Given the description of an element on the screen output the (x, y) to click on. 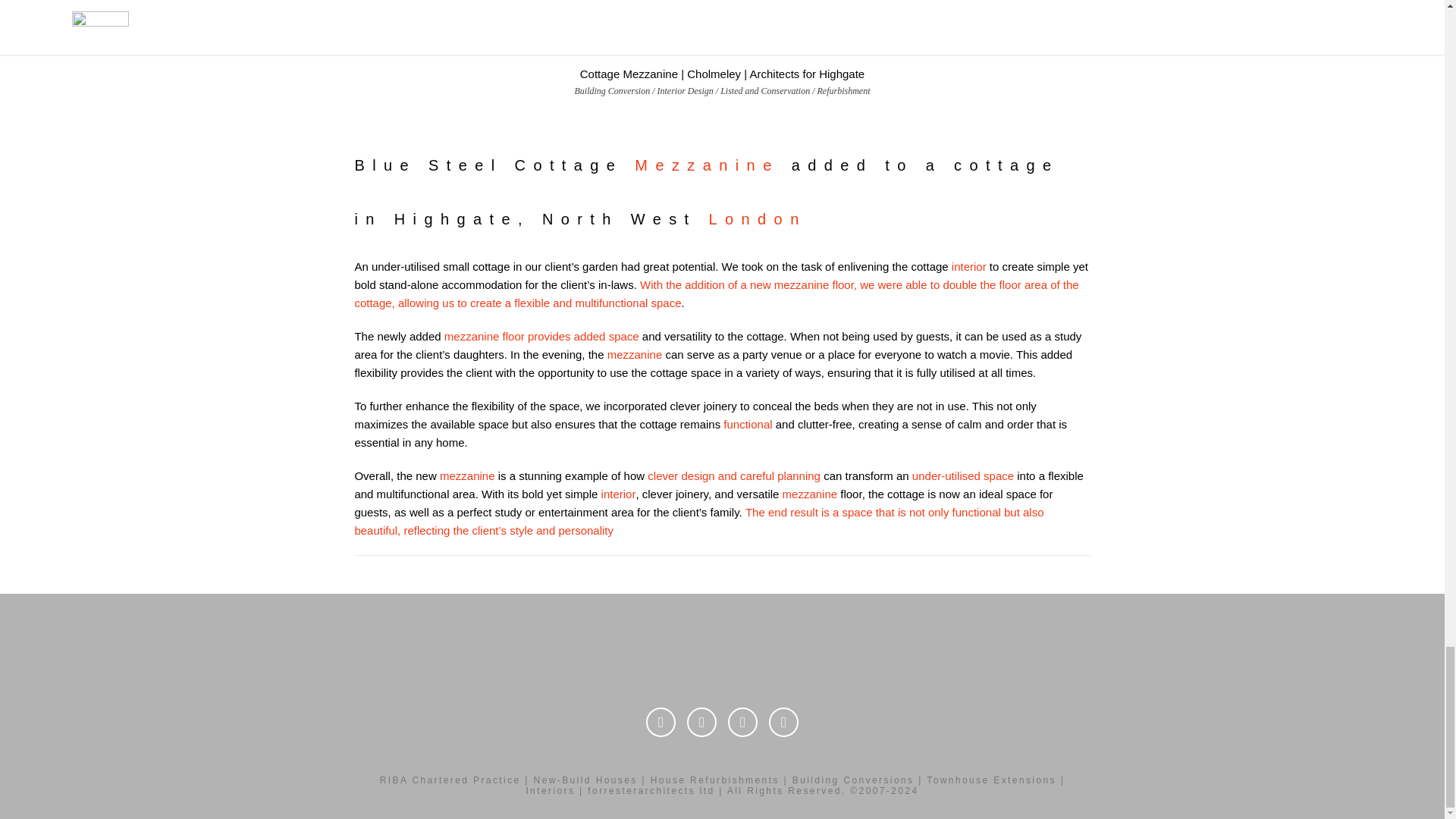
interior (969, 266)
interior (618, 493)
mezzanine (810, 493)
Twitter (660, 722)
mezzanine floor provides added space (541, 336)
mezzanine (634, 354)
Instagram (742, 722)
functional (747, 423)
under-utilised space (962, 475)
Pinterest (782, 722)
mezzanine (467, 475)
Mezzanine (706, 165)
London (757, 218)
LinkedIn (701, 722)
